Given the description of an element on the screen output the (x, y) to click on. 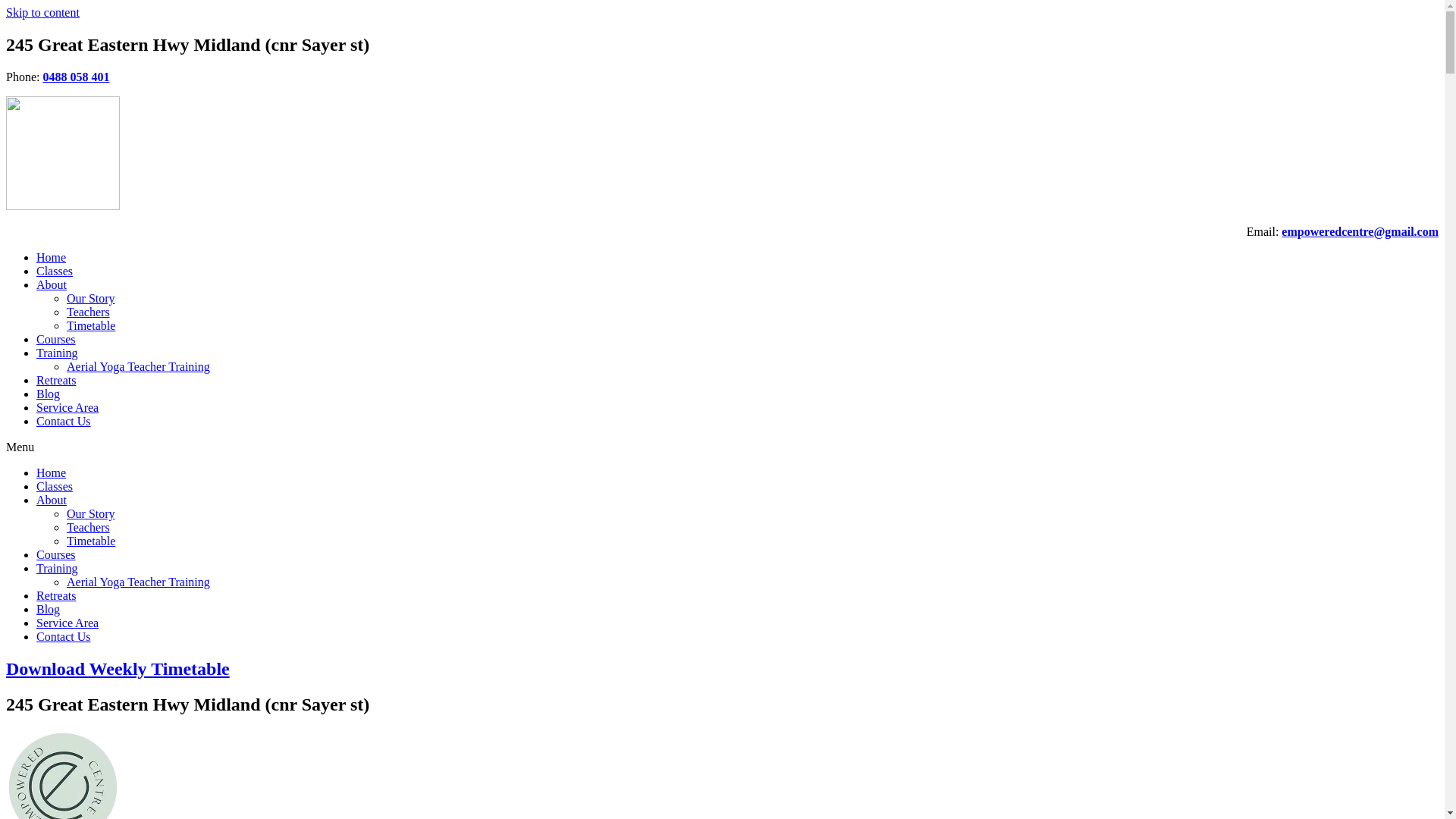
Blog Element type: text (47, 393)
Service Area Element type: text (67, 407)
Aerial Yoga Teacher Training Element type: text (138, 366)
Our Story Element type: text (90, 297)
Training Element type: text (57, 567)
About Element type: text (51, 499)
Home Element type: text (50, 472)
Our Story Element type: text (90, 513)
Download Weekly Timetable Element type: text (117, 668)
Skip to content Element type: text (42, 12)
Classes Element type: text (54, 486)
Courses Element type: text (55, 338)
Teachers Element type: text (87, 526)
Service Area Element type: text (67, 622)
empoweredcentre@gmail.com Element type: text (1359, 231)
Teachers Element type: text (87, 311)
Contact Us Element type: text (63, 636)
Blog Element type: text (47, 608)
Timetable Element type: text (90, 540)
Courses Element type: text (55, 554)
Classes Element type: text (54, 270)
Aerial Yoga Teacher Training Element type: text (138, 581)
Home Element type: text (50, 257)
0488 058 401 Element type: text (75, 76)
Training Element type: text (57, 352)
Timetable Element type: text (90, 325)
Retreats Element type: text (55, 595)
About Element type: text (51, 284)
Contact Us Element type: text (63, 420)
Retreats Element type: text (55, 379)
